Given the description of an element on the screen output the (x, y) to click on. 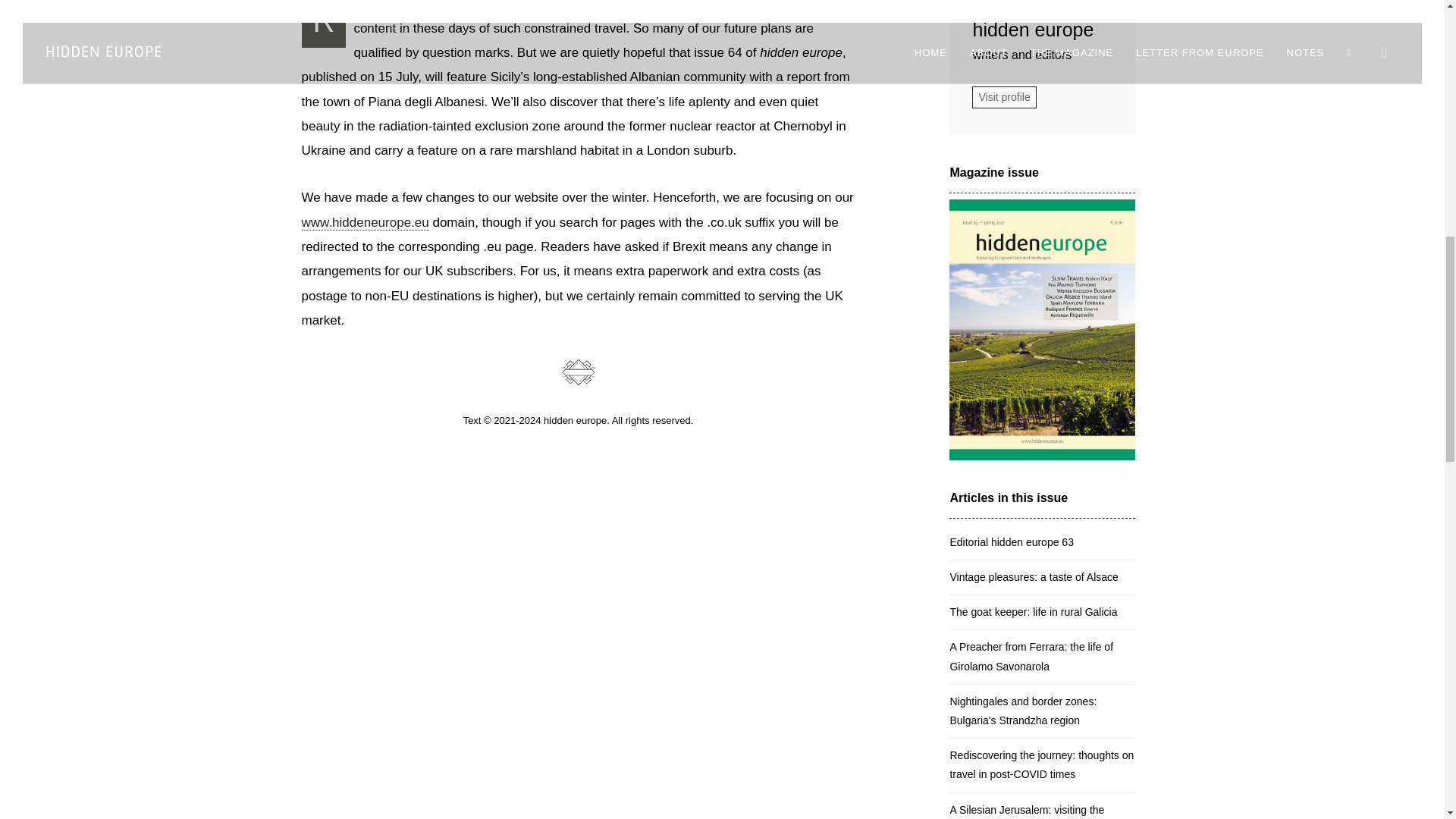
A Preacher from Ferrara: the life of Girolamo Savonarola (1042, 656)
Vintage pleasures: a taste of Alsace (1042, 576)
The goat keeper: life in rural Galicia (1042, 611)
Editorial hidden europe 63 (1042, 541)
hidden europe (1042, 29)
Visit profile (1003, 96)
www.hiddeneurope.eu (365, 222)
